Given the description of an element on the screen output the (x, y) to click on. 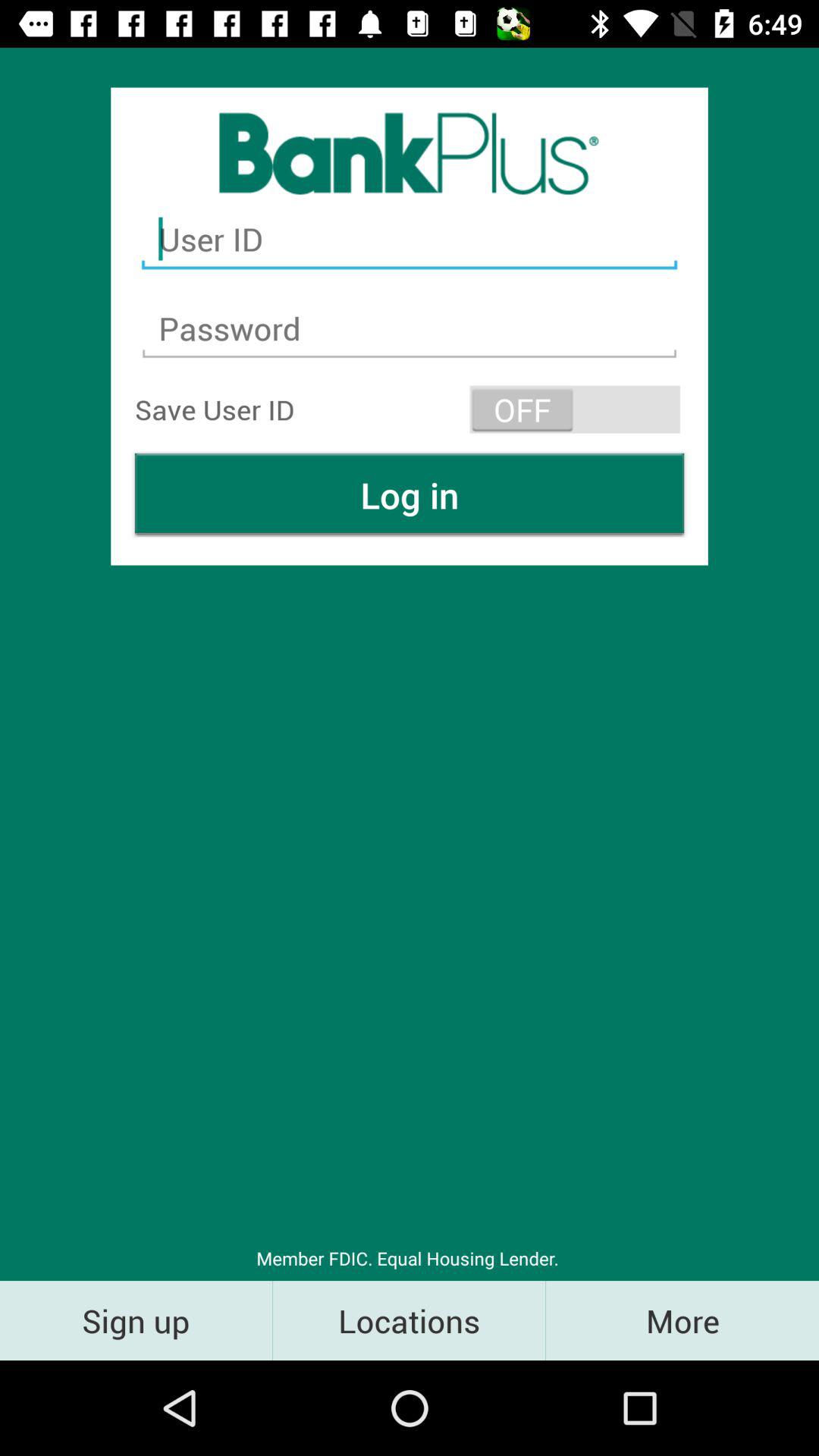
open the icon above the log in (574, 409)
